Given the description of an element on the screen output the (x, y) to click on. 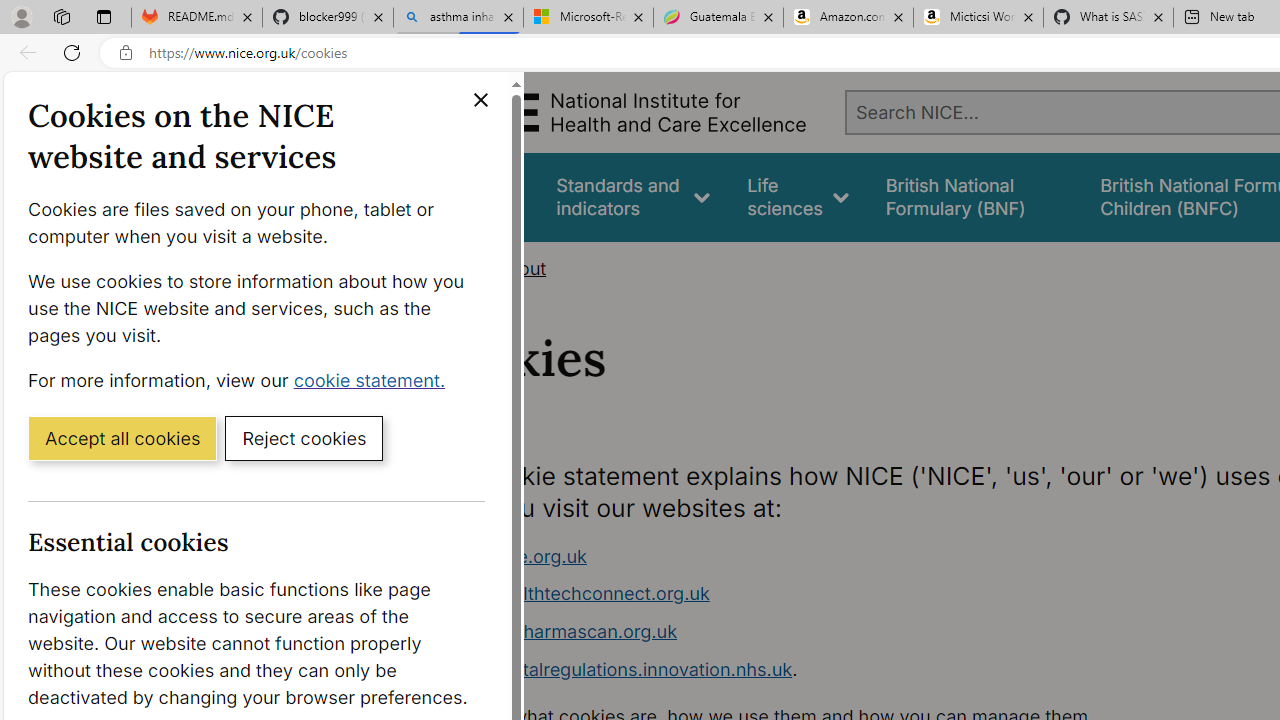
Close tab (1158, 16)
Microsoft-Report a Concern to Bing (587, 17)
Workspaces (61, 16)
Guidance (479, 196)
Personal Profile (21, 16)
www.nice.org.uk (514, 556)
